Given the description of an element on the screen output the (x, y) to click on. 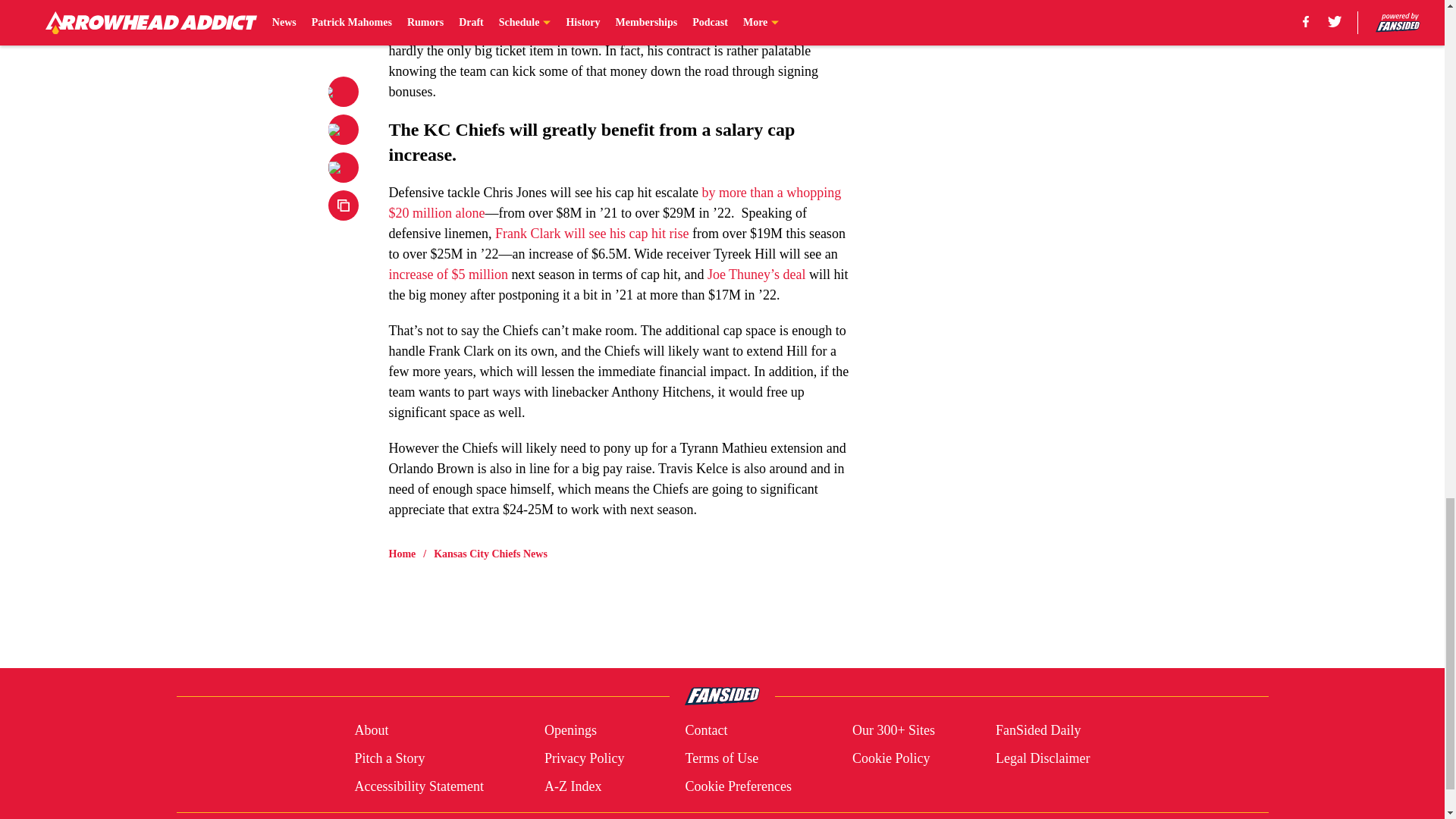
Home (401, 554)
Pitch a Story (389, 758)
Contact (705, 730)
About (370, 730)
FanSided Daily (1038, 730)
Kansas City Chiefs News (490, 554)
Frank Clark will see his cap hit rise (591, 233)
Openings (570, 730)
